Given the description of an element on the screen output the (x, y) to click on. 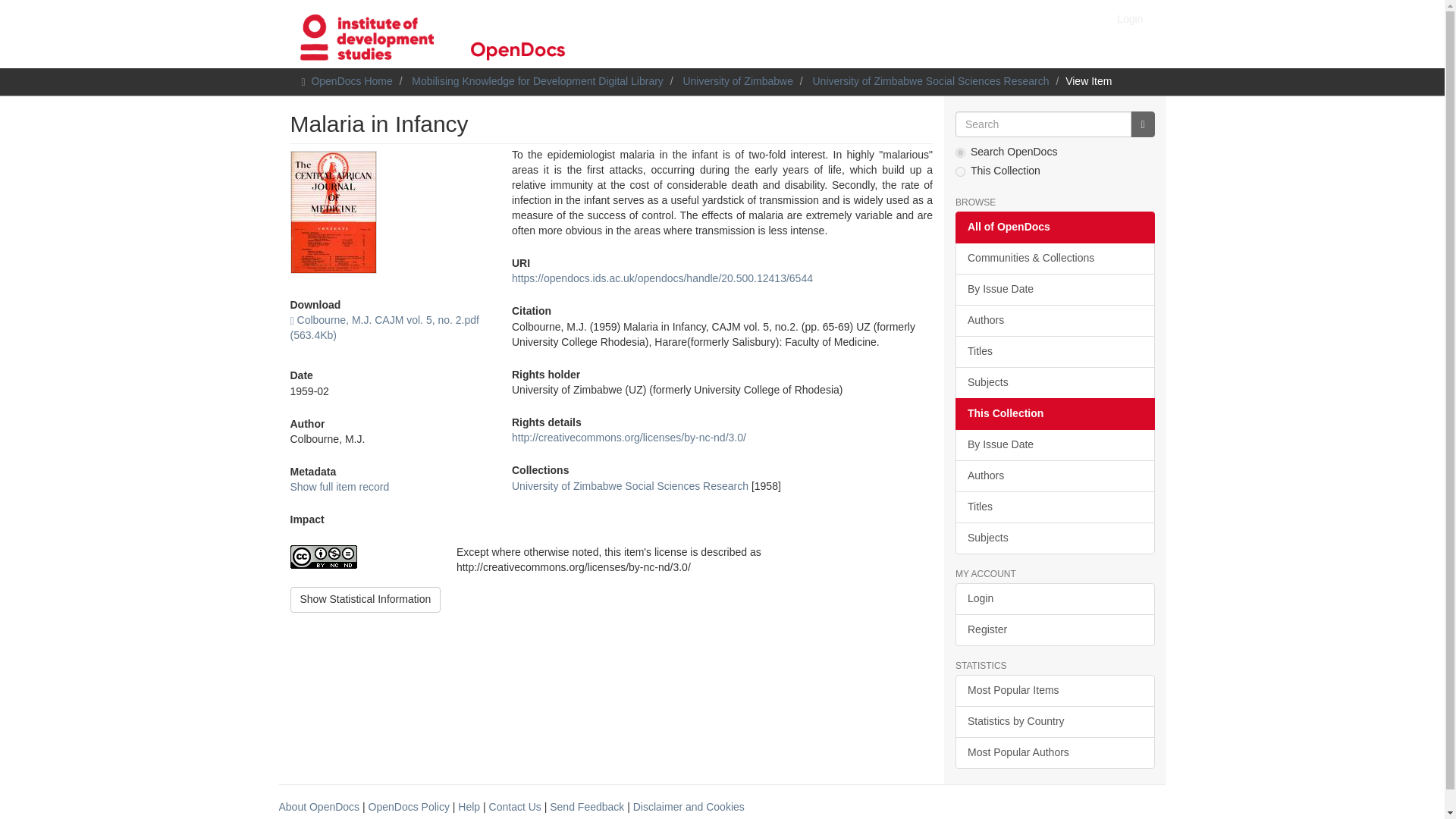
University of Zimbabwe Social Sciences Research (630, 485)
Show full item record (338, 486)
Mobilising Knowledge for Development Digital Library (537, 80)
Subjects (1054, 382)
Titles (1054, 507)
Authors (1054, 476)
University of Zimbabwe (737, 80)
OpenDocs Home (351, 80)
This Collection (1054, 413)
Authors (1054, 320)
